Given the description of an element on the screen output the (x, y) to click on. 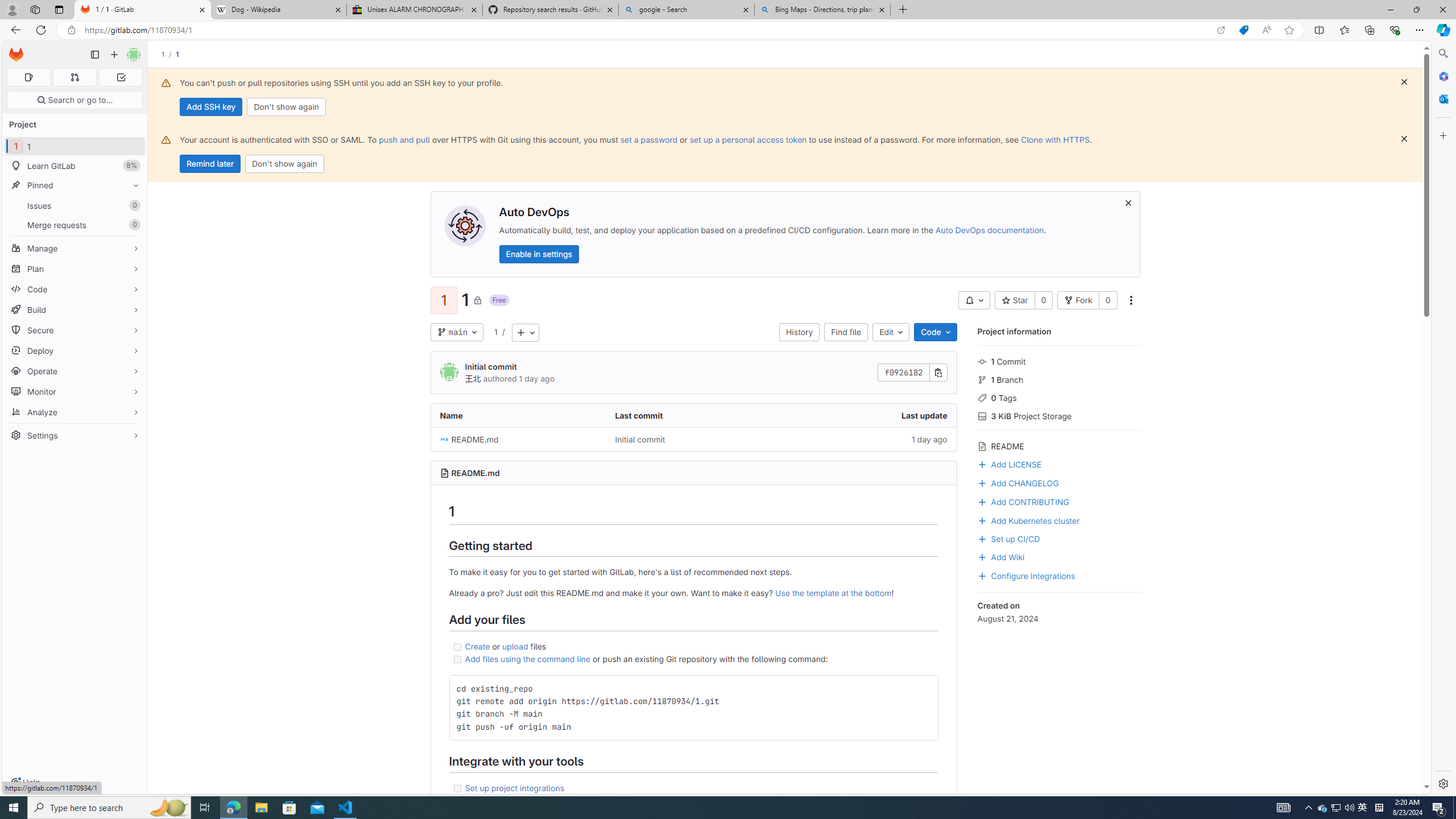
Monitor (74, 391)
push and pull (403, 139)
Merge requests 0 (74, 76)
Last update (868, 415)
Operate (74, 370)
11 (74, 145)
Dismiss Auto DevOps box (1128, 202)
Clone with HTTPS (1054, 139)
Class: s16 icon gl-mr-3 gl-text-gray-500 (981, 446)
Secure (74, 330)
